Given the description of an element on the screen output the (x, y) to click on. 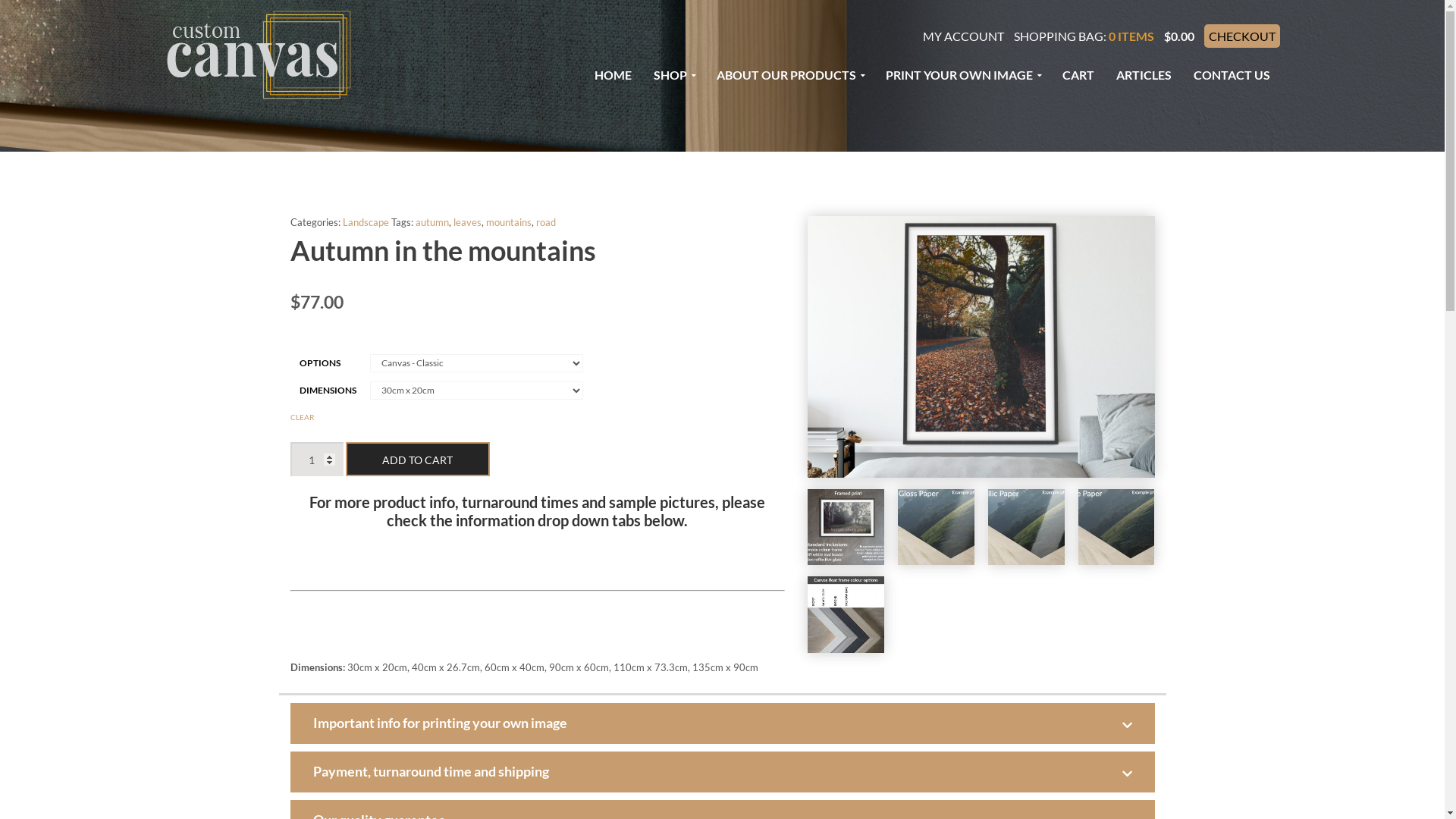
HOME Element type: text (611, 74)
CLEAR Element type: text (301, 416)
ARTICLES Element type: text (1142, 74)
cPrintMetallic Element type: hover (1026, 527)
ADD TO CART Element type: text (417, 459)
s68f Element type: hover (980, 346)
cPrintsemigloss Element type: hover (935, 527)
webcanvasfloatframes Element type: hover (845, 614)
autumn Element type: text (431, 222)
leaves Element type: text (467, 222)
SHOP Element type: text (673, 74)
CHECKOUT Element type: text (1242, 35)
Landscape Element type: text (365, 222)
0 ITEMS Element type: text (1131, 35)
MY ACCOUNT Element type: text (962, 35)
CONTACT US Element type: text (1231, 74)
framed prints Element type: hover (845, 527)
road Element type: text (545, 222)
mountains Element type: text (507, 222)
PRINT YOUR OWN IMAGE Element type: text (962, 74)
cPrintMatte Element type: hover (1116, 527)
ABOUT OUR PRODUCTS Element type: text (789, 74)
CART Element type: text (1078, 74)
Qty Element type: hover (315, 459)
